Given the description of an element on the screen output the (x, y) to click on. 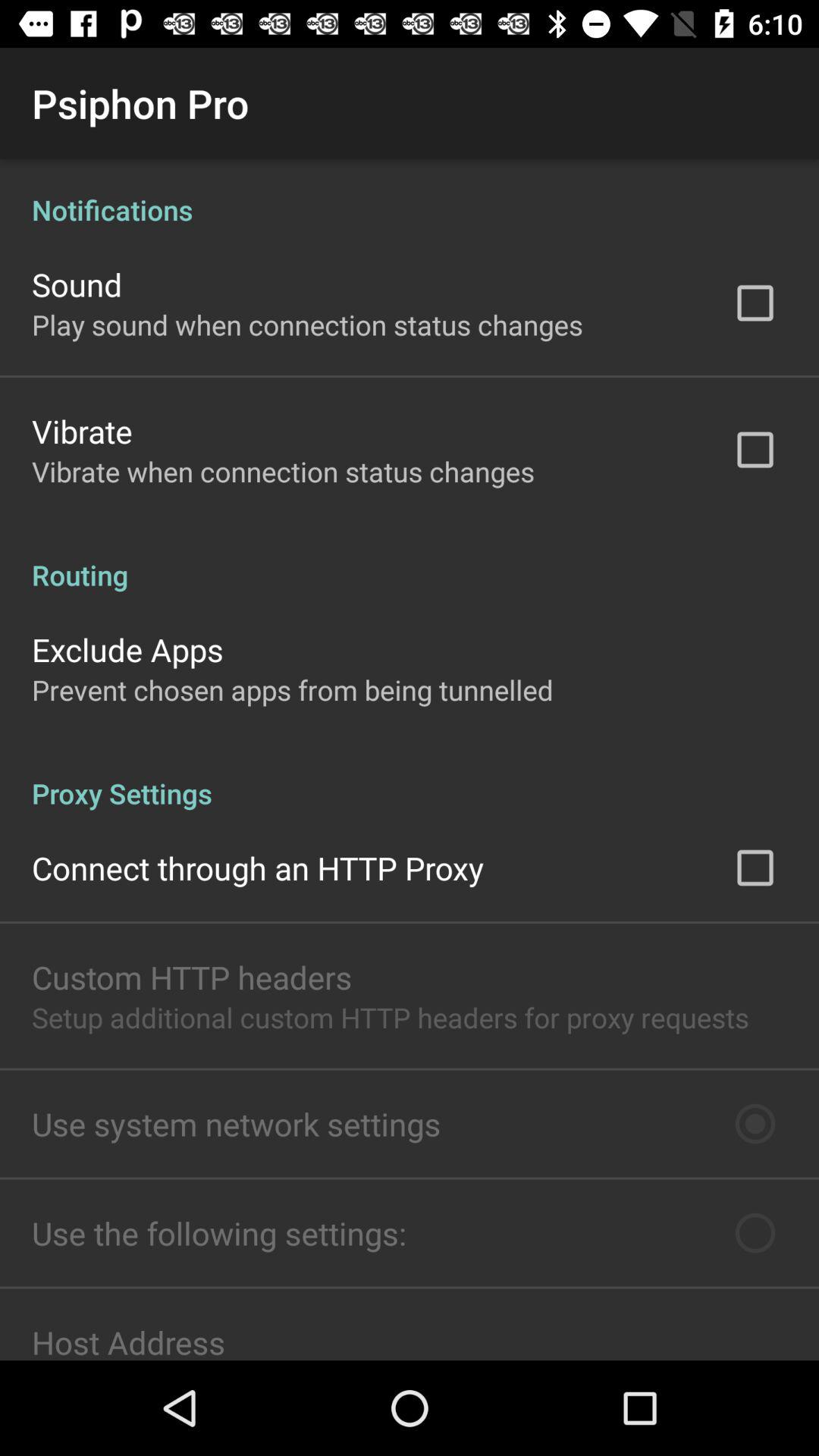
jump until the connect through an item (257, 867)
